Given the description of an element on the screen output the (x, y) to click on. 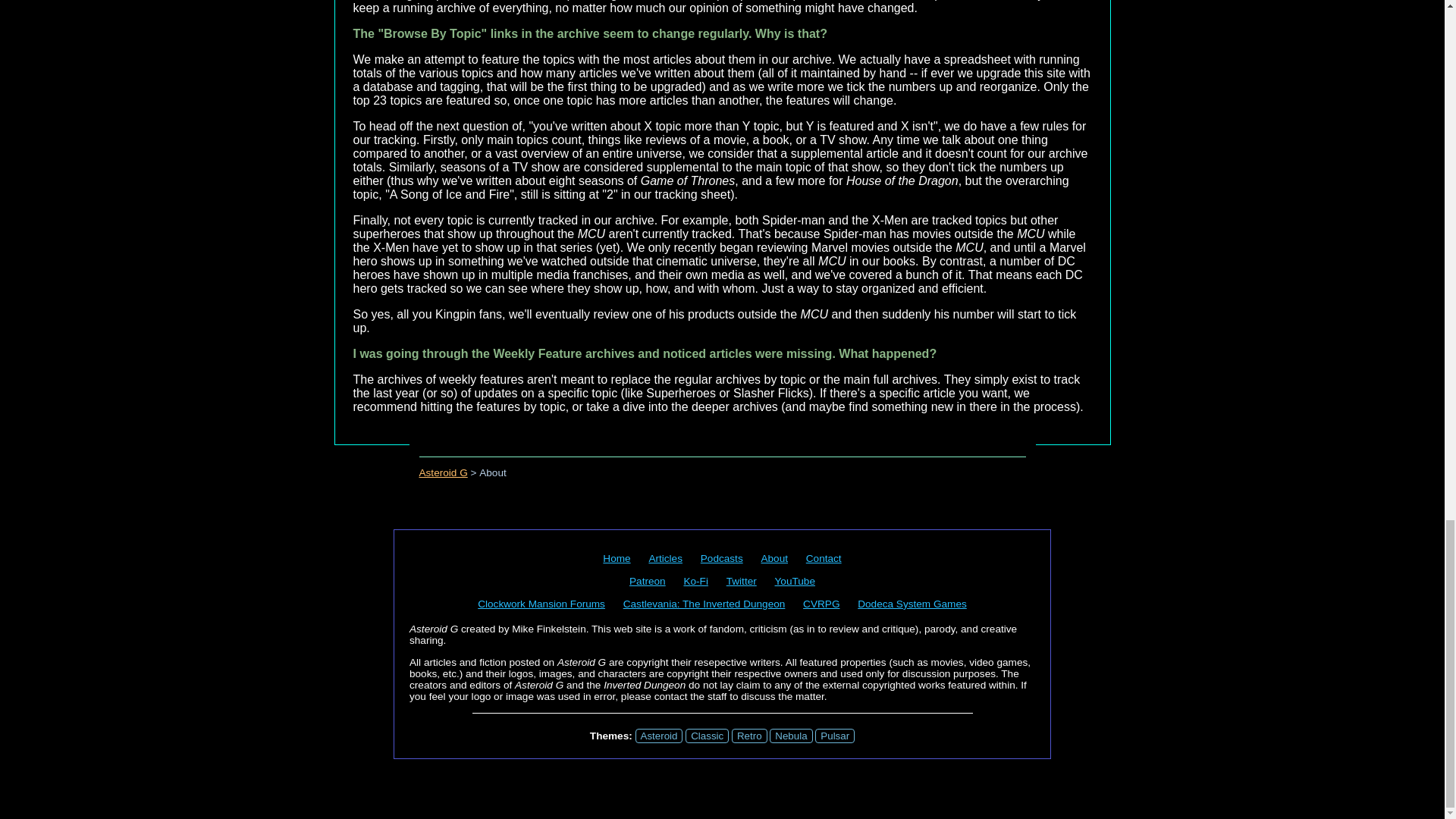
Dodeca System Games (911, 603)
Donate on KoFi (694, 581)
Ko-Fi (694, 581)
Twitter (741, 581)
Follow Asteroid G on YouTube (794, 581)
Patreon (646, 581)
Nebula (791, 735)
About (773, 558)
About (773, 558)
Donate on Patreon (646, 581)
Clockwork Mansion Forums (541, 603)
Castlevania: The Inverted Dungeon (704, 603)
Home (616, 558)
Contact (823, 558)
Home (616, 558)
